Given the description of an element on the screen output the (x, y) to click on. 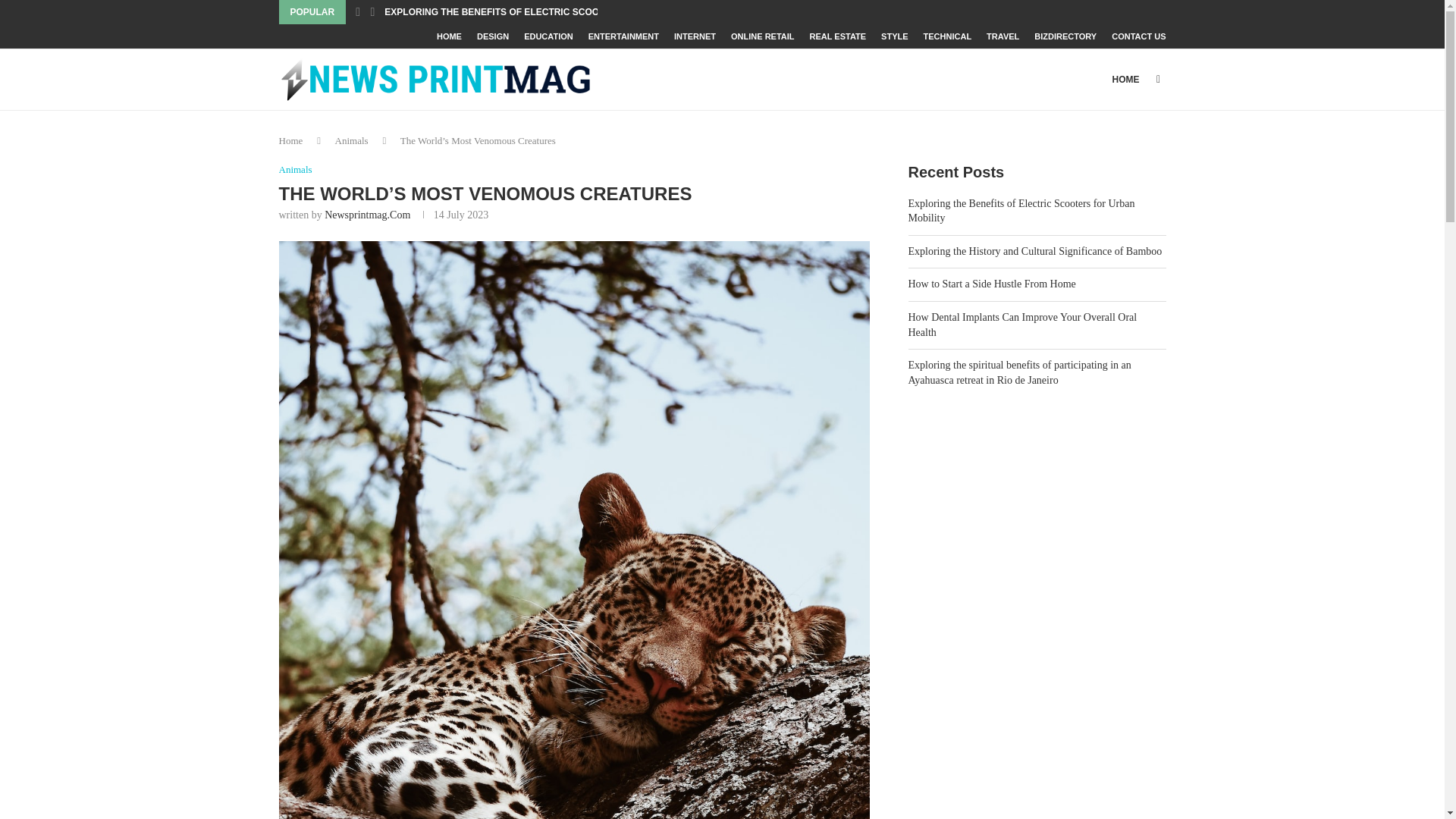
STYLE (893, 36)
TRAVEL (1003, 36)
Animals (296, 169)
TECHNICAL (947, 36)
BIZDIRECTORY (1064, 36)
Animals (351, 140)
EXPLORING THE BENEFITS OF ELECTRIC SCOOTERS FOR URBAN... (535, 12)
EDUCATION (548, 36)
CONTACT US (1139, 36)
ENTERTAINMENT (623, 36)
